Given the description of an element on the screen output the (x, y) to click on. 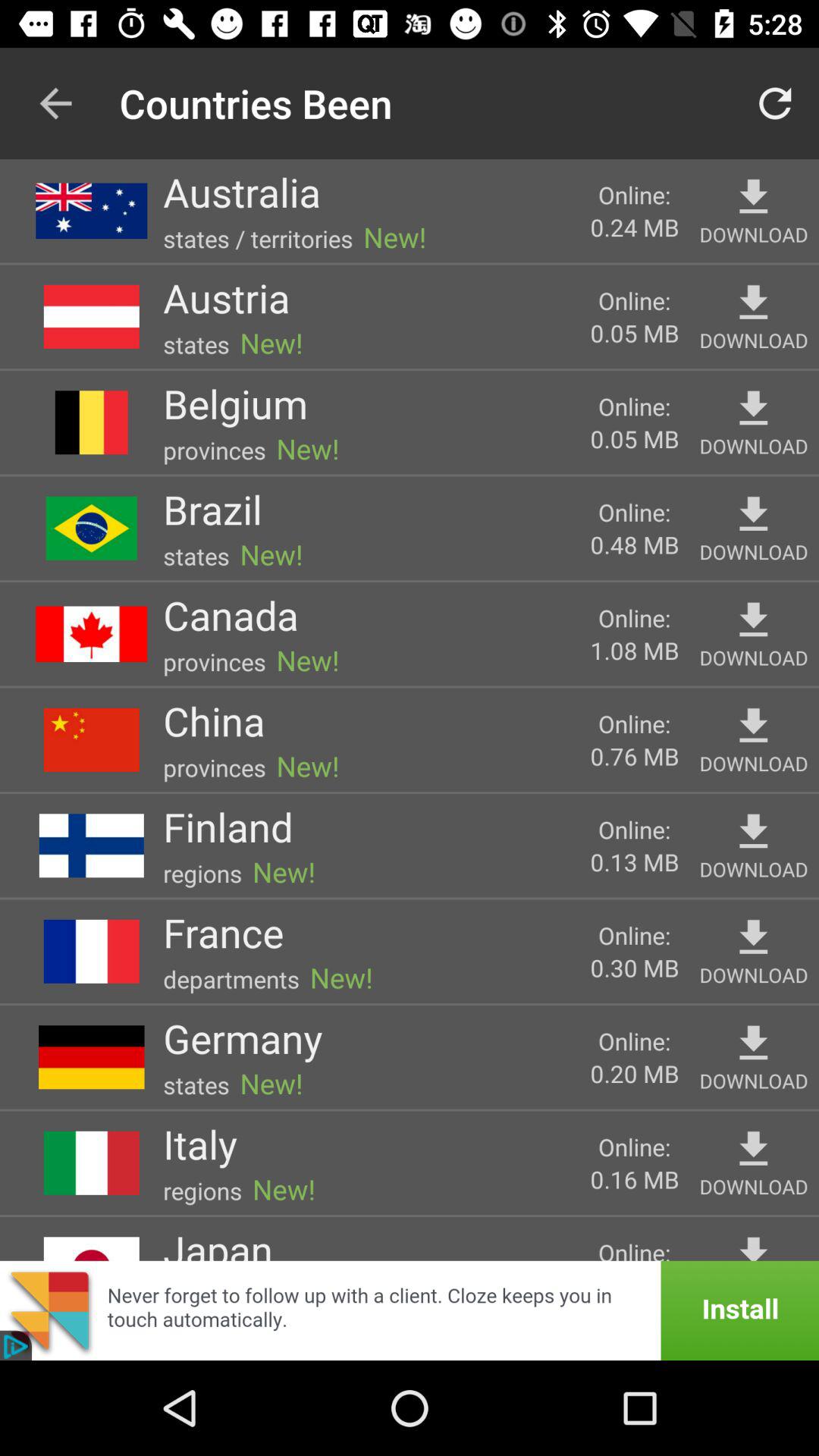
go to directions (753, 197)
